Given the description of an element on the screen output the (x, y) to click on. 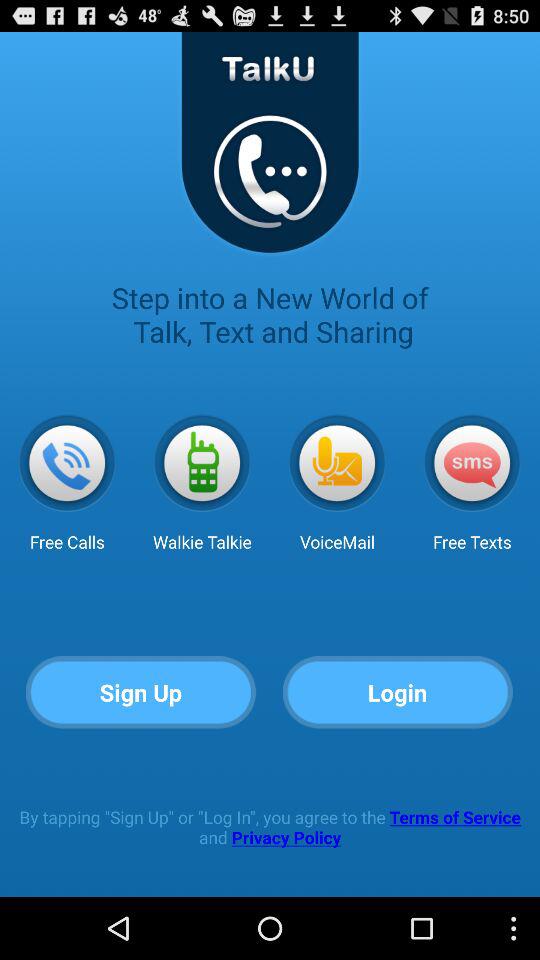
tap button next to the sign up item (398, 692)
